Given the description of an element on the screen output the (x, y) to click on. 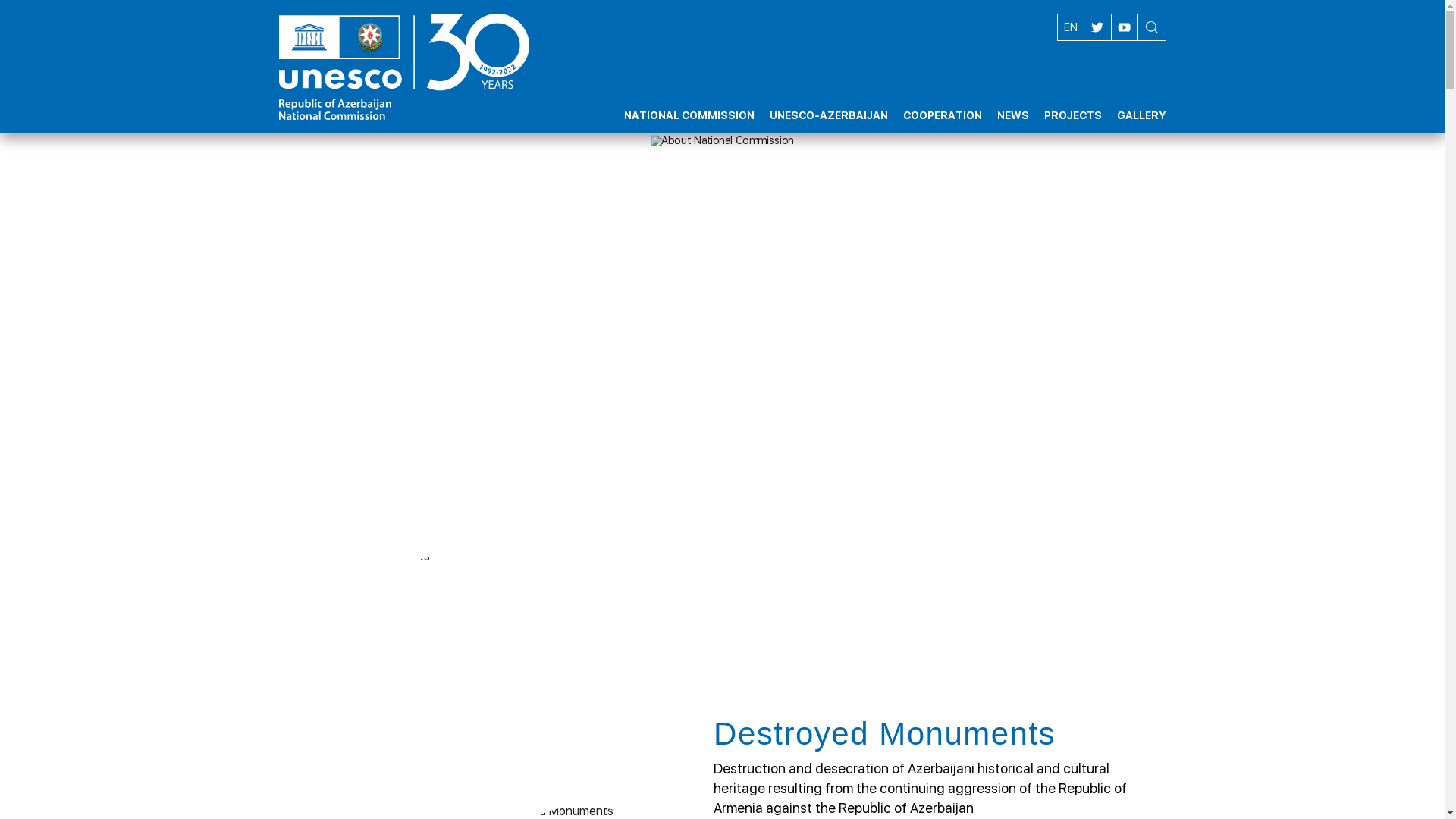
NEWS Element type: text (1011, 102)
NATIONAL COMMISSION Element type: text (688, 102)
UNESCO-AZERBAIJAN Element type: text (827, 102)
COOPERATION Element type: text (941, 102)
AZ Element type: text (1069, 27)
PROJECTS Element type: text (1071, 102)
GALLERY Element type: text (1140, 102)
